Given the description of an element on the screen output the (x, y) to click on. 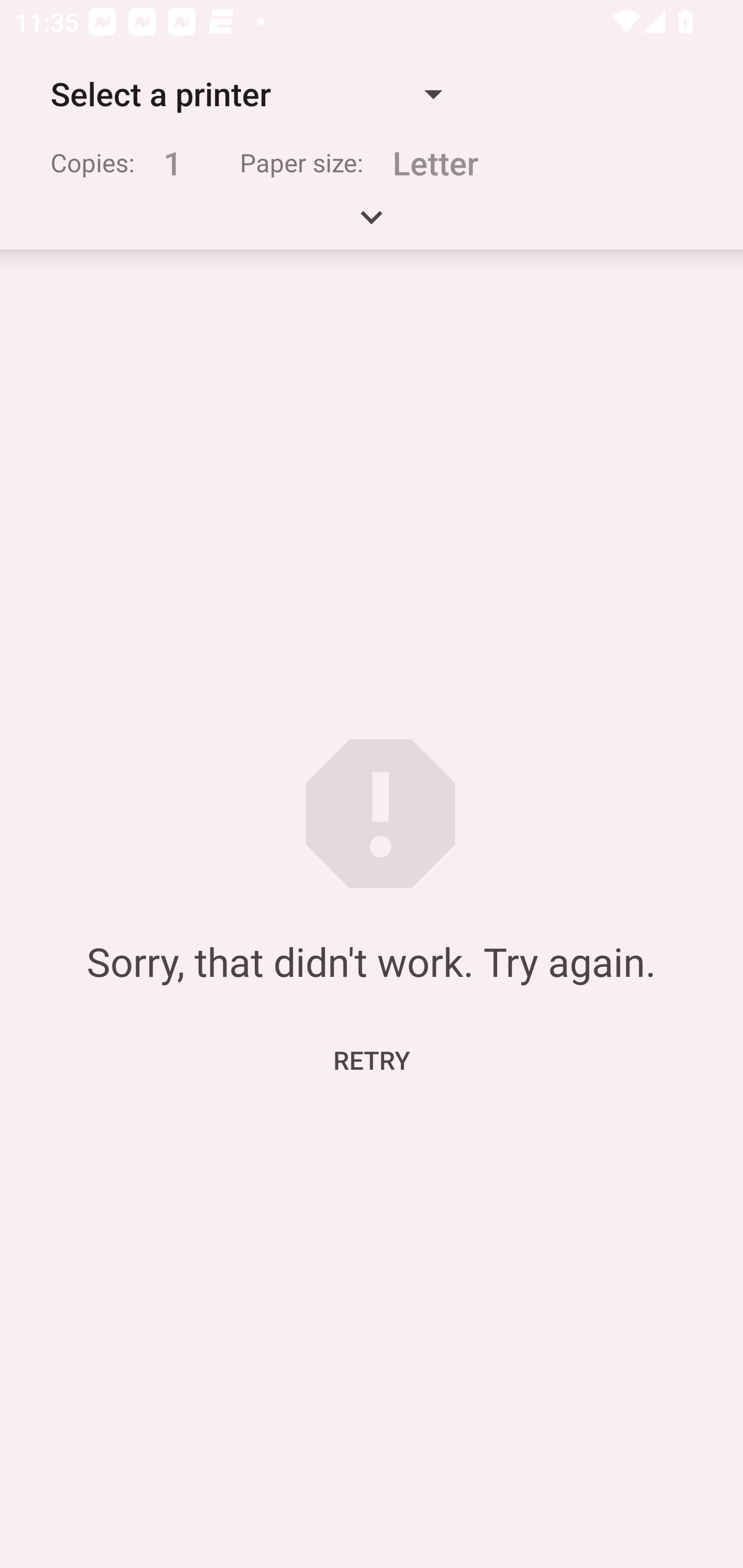
Select a printer (245, 93)
Expand handle (371, 224)
RETRY (371, 1059)
